Given the description of an element on the screen output the (x, y) to click on. 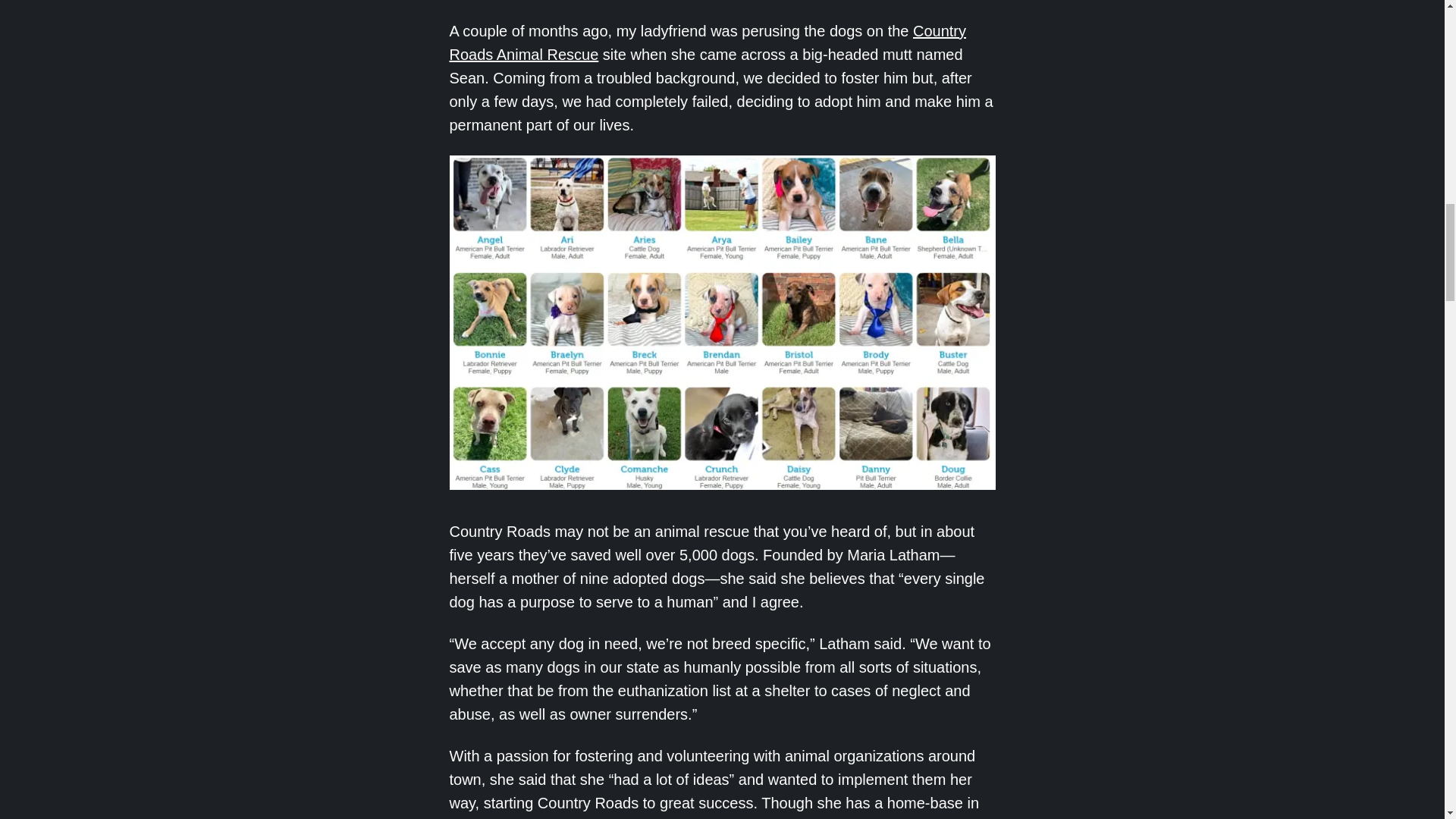
Country Roads Animal Rescue (707, 42)
